Given the description of an element on the screen output the (x, y) to click on. 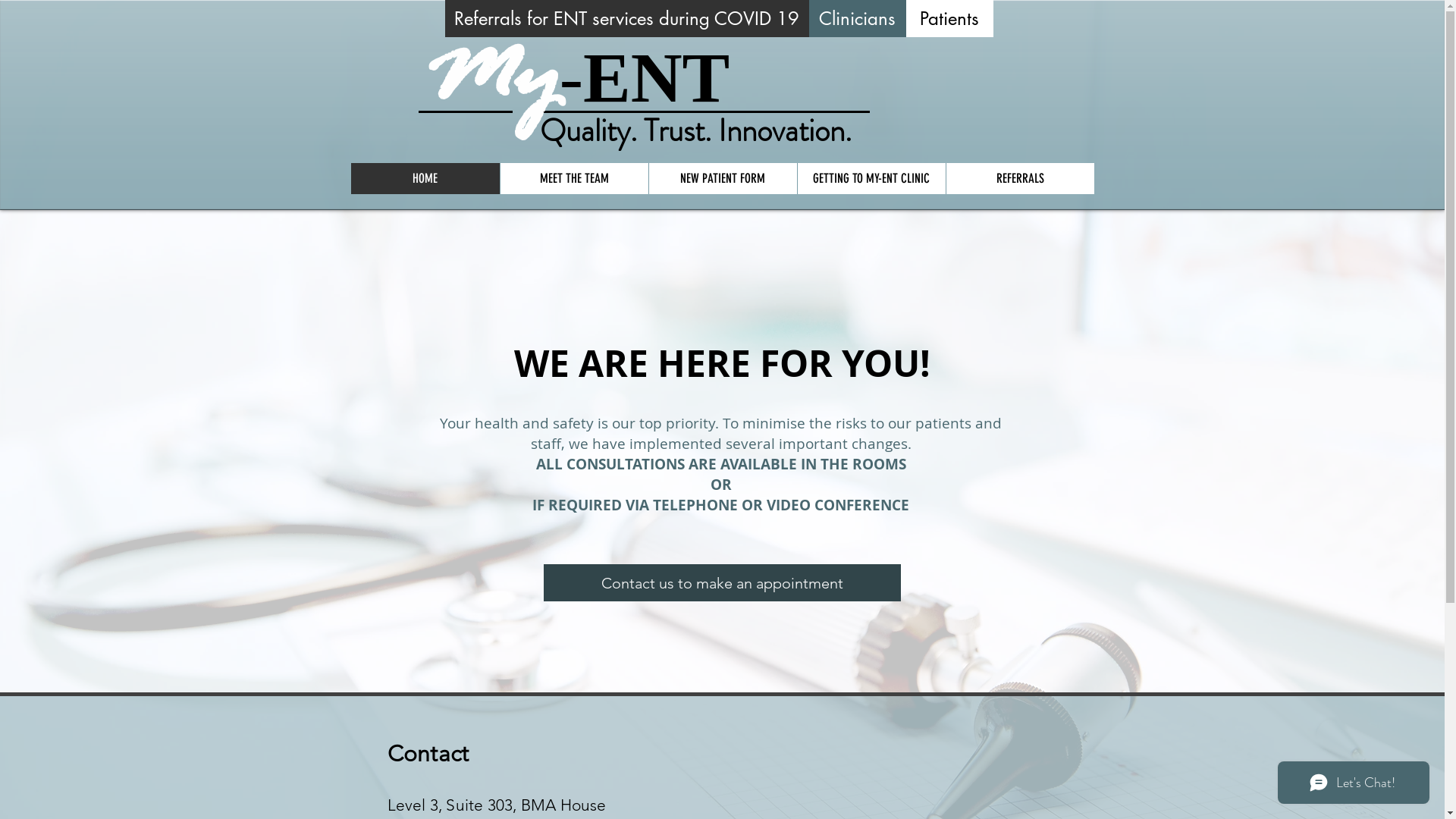
Clinicians Element type: text (856, 18)
GETTING TO MY-ENT CLINIC Element type: text (870, 178)
Referrals for ENT services during COVID 19 Element type: text (626, 18)
REFERRALS Element type: text (1018, 178)
Patients Element type: text (948, 18)
HOME Element type: text (424, 178)
Contact us to make an appointment Element type: text (721, 582)
MEET THE TEAM Element type: text (572, 178)
NEW PATIENT FORM Element type: text (721, 178)
